Given the description of an element on the screen output the (x, y) to click on. 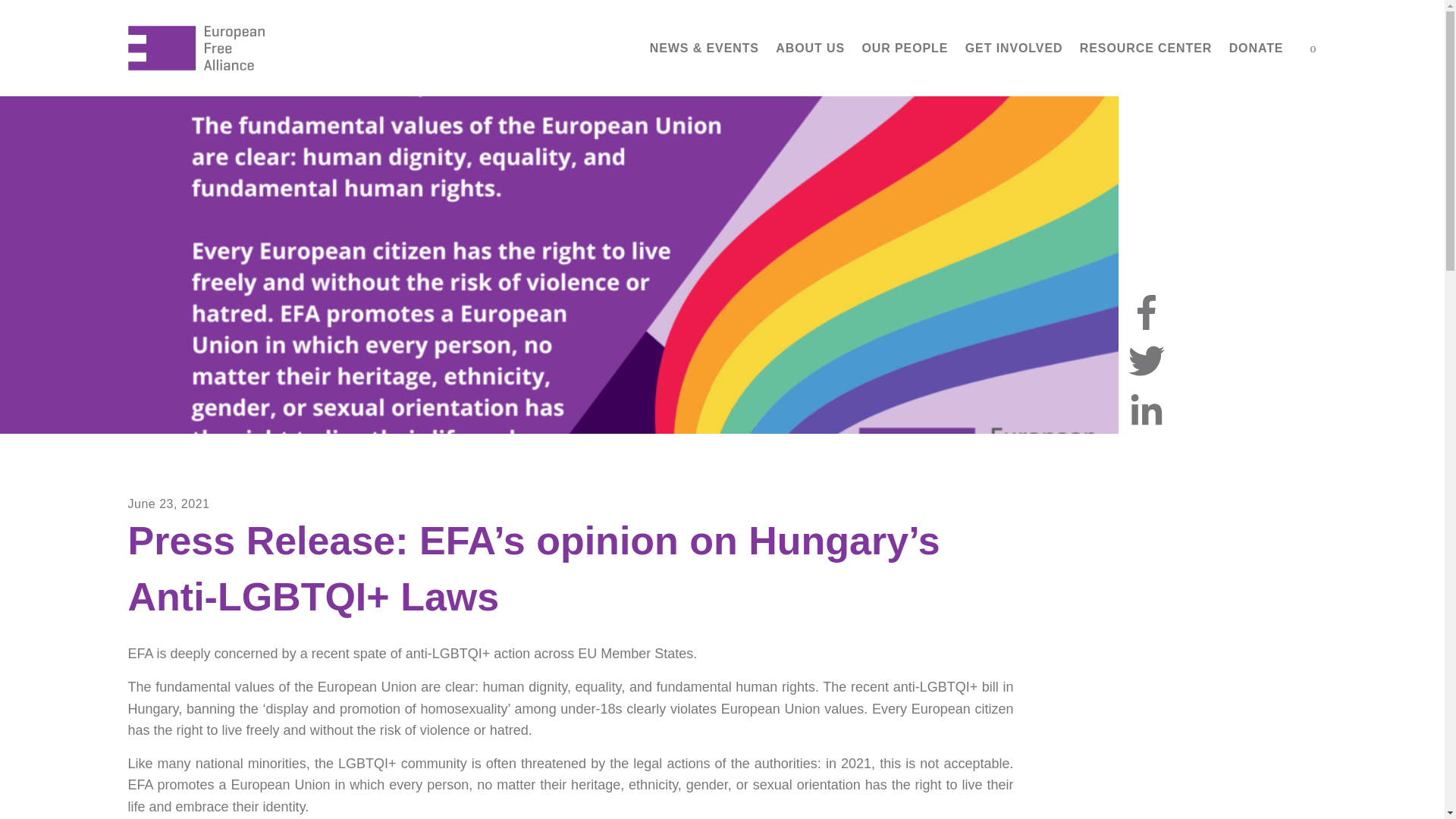
OUR PEOPLE (904, 48)
ABOUT US (810, 48)
Our People (904, 48)
GET INVOLVED (1013, 48)
About Us (810, 48)
RESOURCE CENTER (1146, 48)
DONATE (1255, 48)
